Given the description of an element on the screen output the (x, y) to click on. 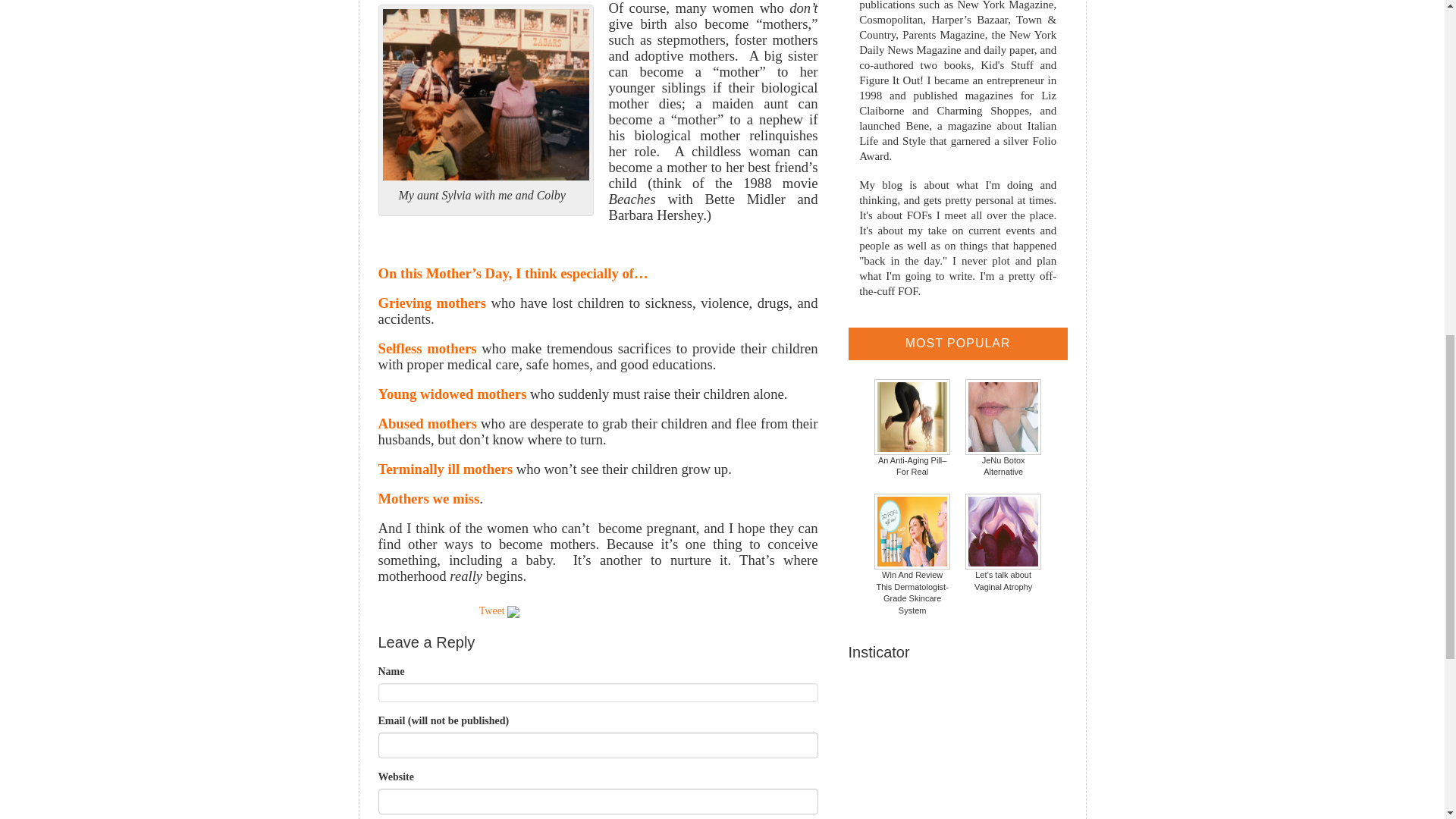
Permanent link to JeNu Botox Alternative (1003, 427)
Win And Review This Dermatologist-Grade Skincare System (912, 554)
JeNu Botox Alternative (1003, 427)
Tweet (492, 610)
